Given the description of an element on the screen output the (x, y) to click on. 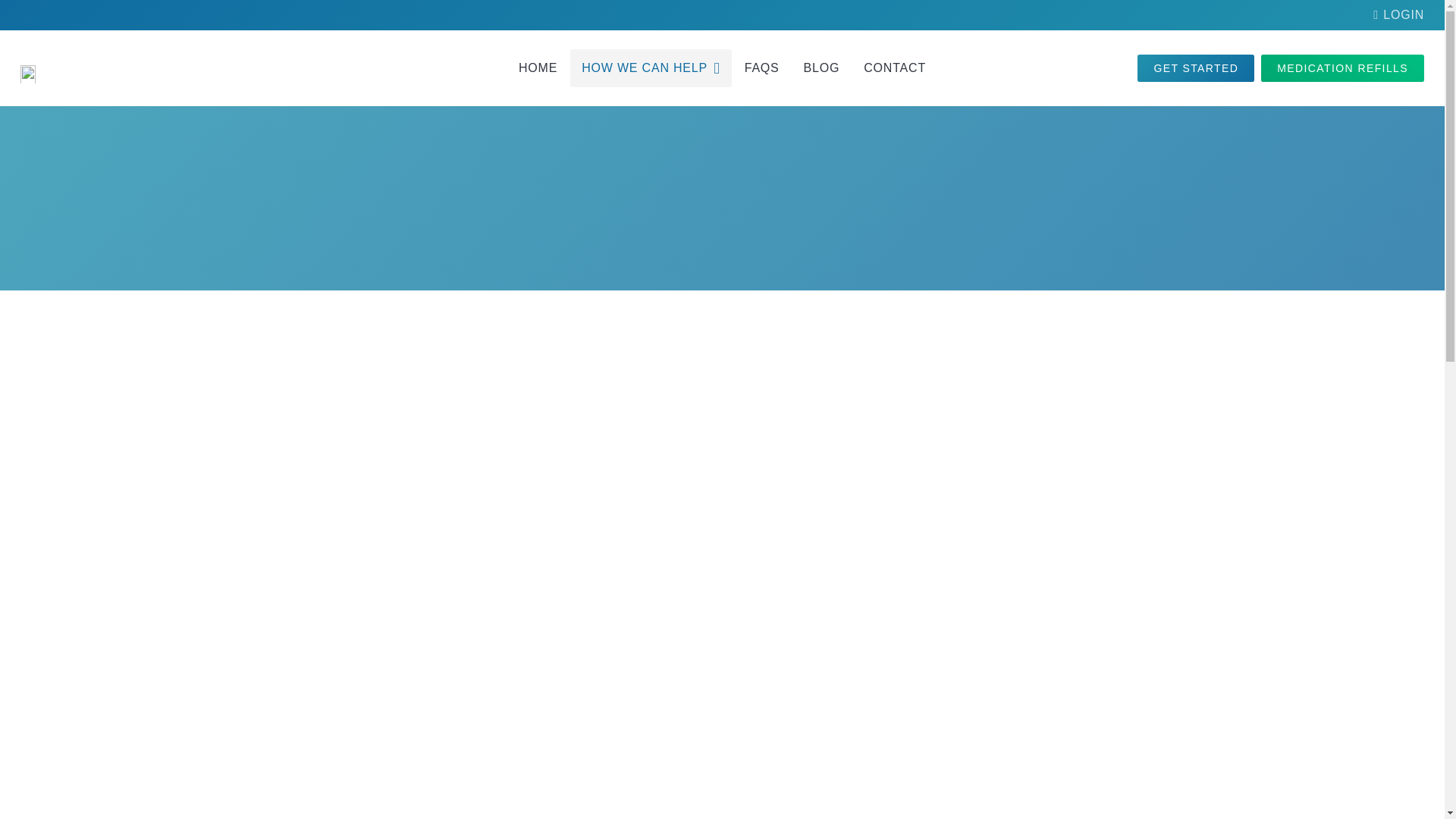
CONTACT (894, 67)
BLOG (821, 67)
HOW WE CAN HELP (651, 67)
HOME (537, 67)
MEDICATION REFILLS (1341, 67)
GET STARTED (1195, 67)
FAQS (761, 67)
LOGIN (1398, 14)
